Given the description of an element on the screen output the (x, y) to click on. 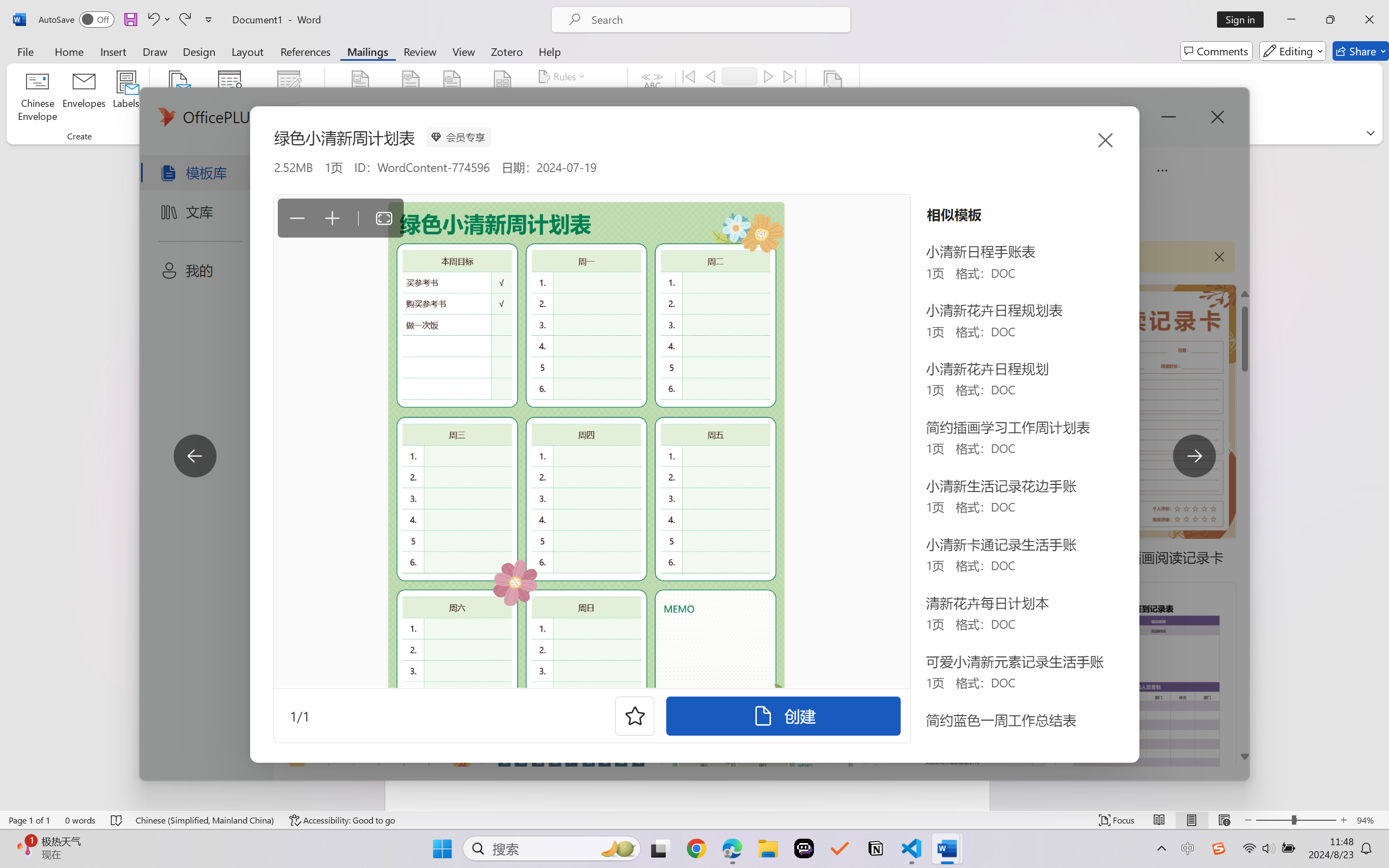
Editing (1292, 50)
Check for Errors... (728, 118)
Insert Merge Field (502, 81)
Insert Merge Field (502, 97)
Greeting Line... (451, 97)
Previous (709, 75)
